Given the description of an element on the screen output the (x, y) to click on. 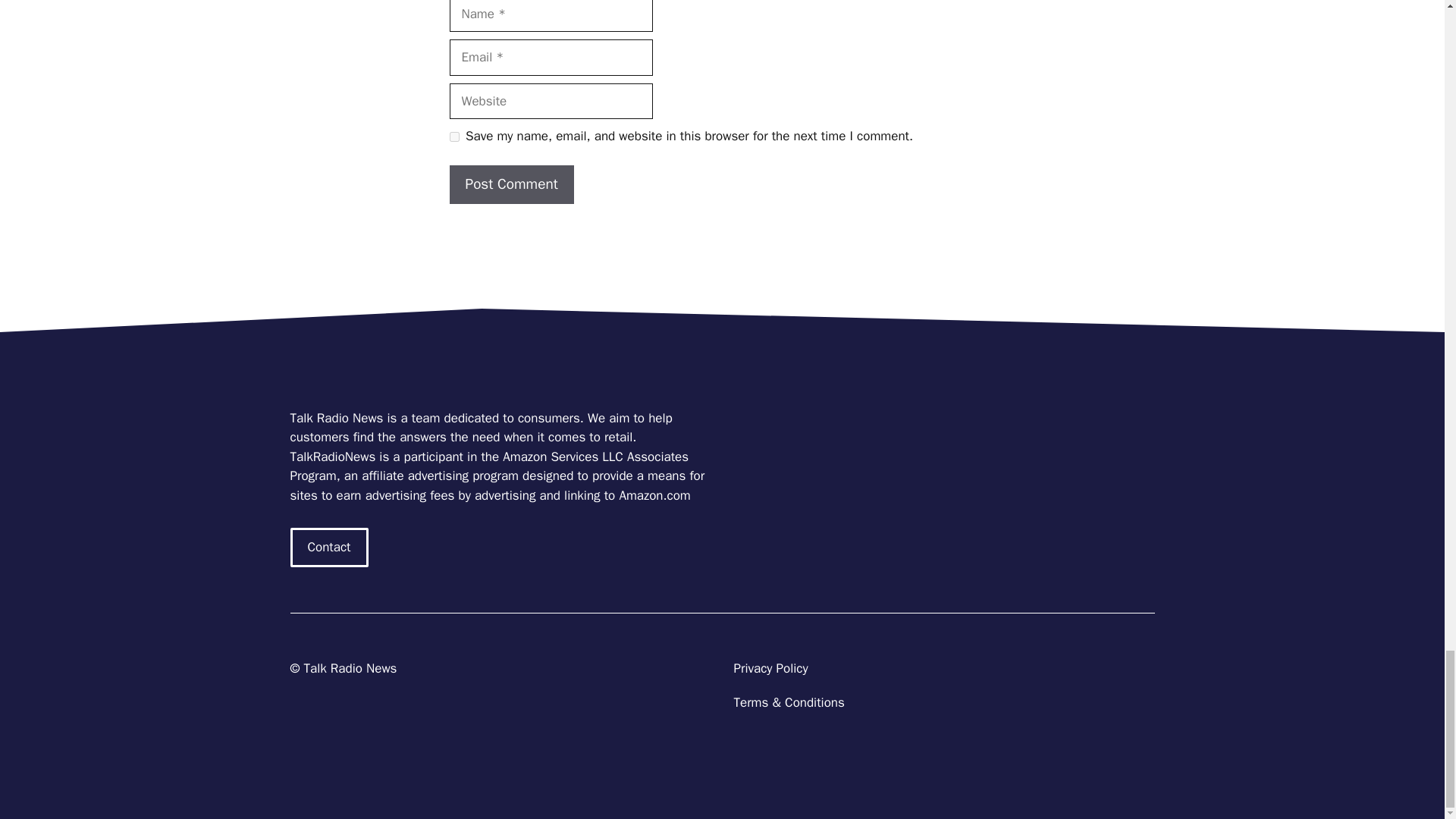
Contact (328, 547)
Post Comment (510, 184)
Post Comment (510, 184)
yes (453, 136)
Privacy Policy (770, 668)
